Given the description of an element on the screen output the (x, y) to click on. 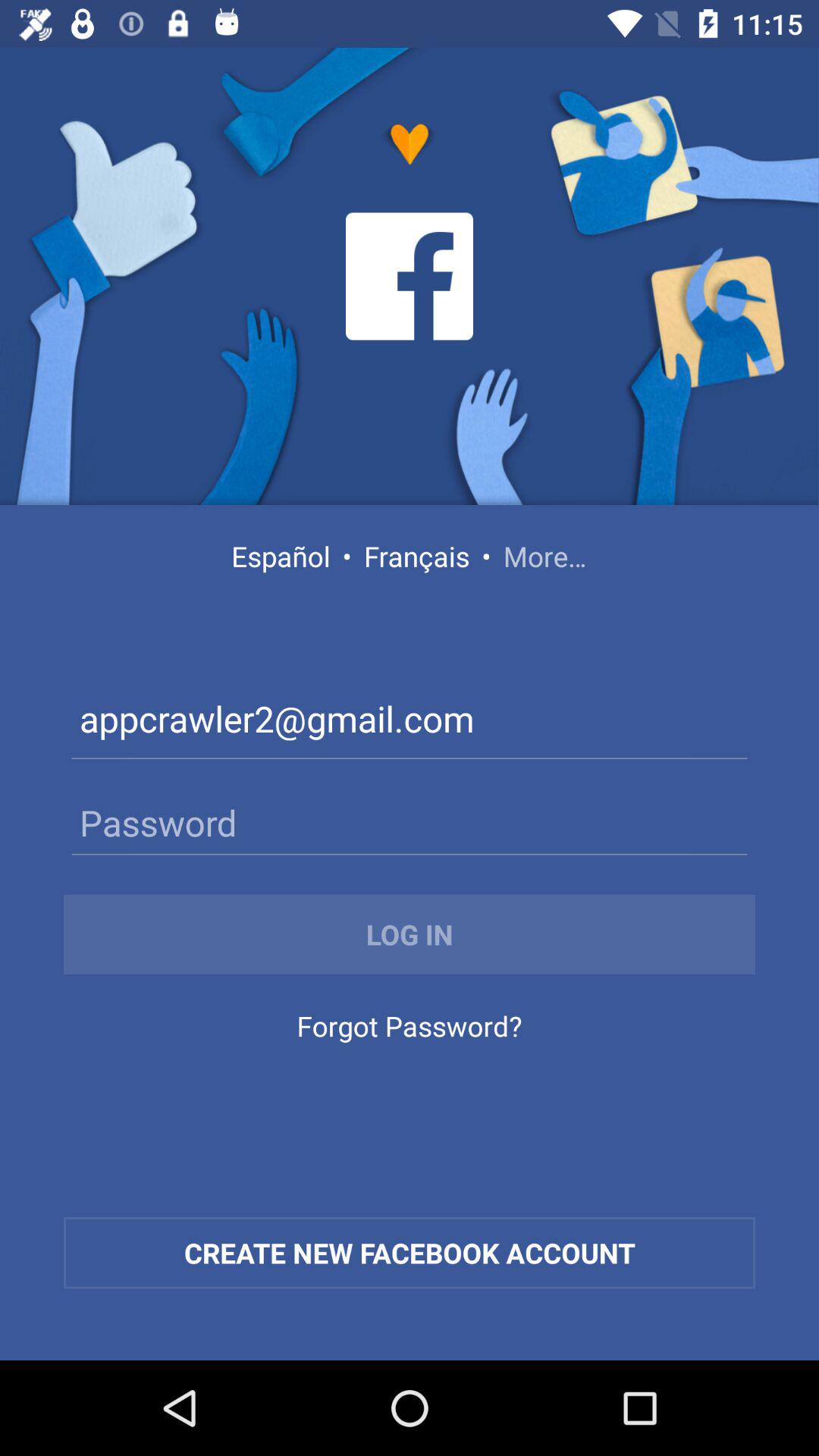
jump to the log in icon (409, 934)
